Given the description of an element on the screen output the (x, y) to click on. 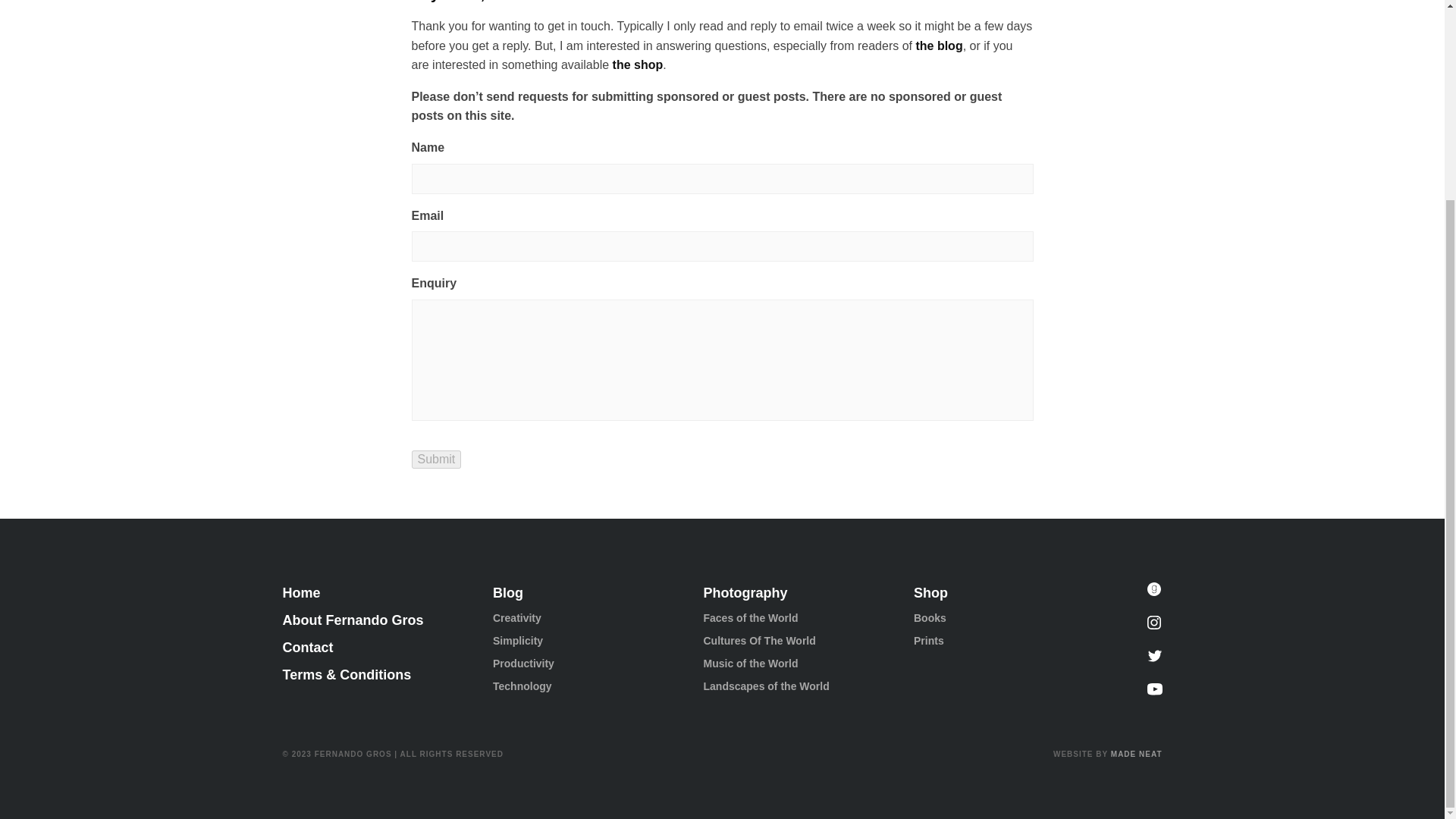
Submit (435, 459)
the blog (938, 46)
Submit (435, 459)
the shop (637, 65)
